Given the description of an element on the screen output the (x, y) to click on. 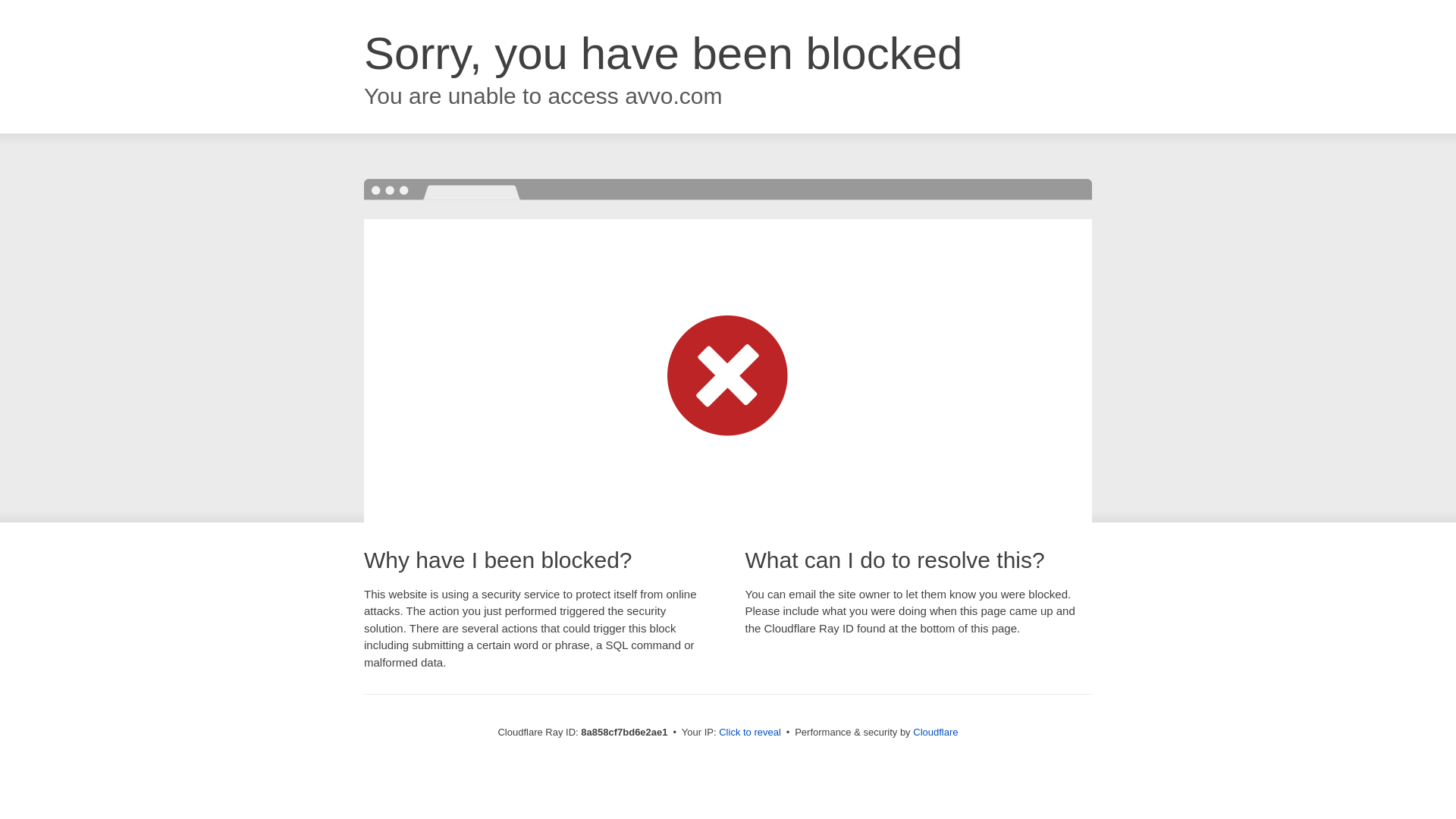
Click to reveal (749, 732)
Cloudflare (935, 731)
